Given the description of an element on the screen output the (x, y) to click on. 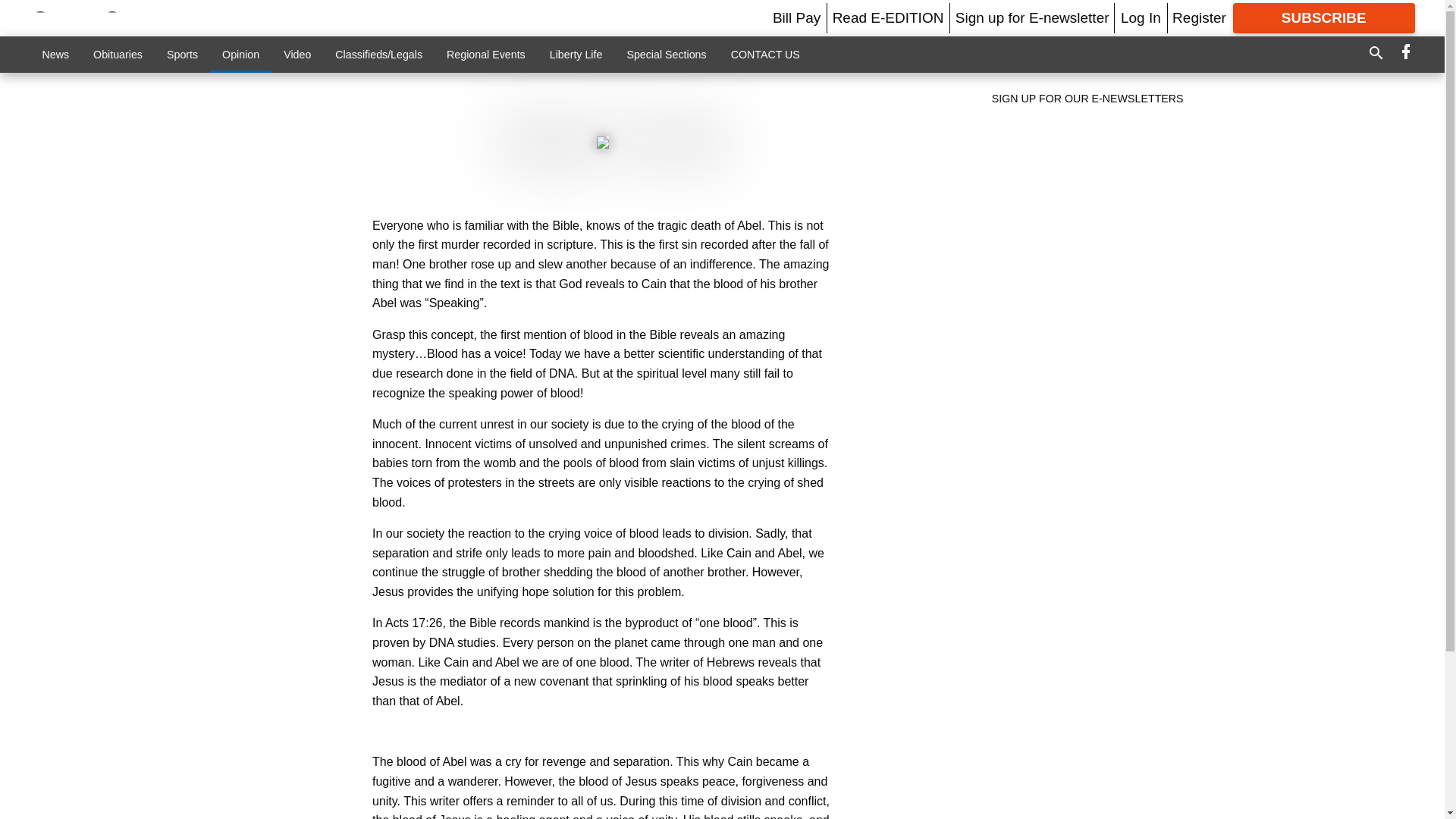
Log In (1140, 17)
Video (296, 54)
News (55, 54)
SUBSCRIBE (1324, 18)
Register (1198, 17)
Bill Pay (797, 17)
Read E-EDITION (887, 17)
Opinion (239, 54)
Sign up for E-newsletter (1032, 17)
Obituaries (117, 54)
Sports (181, 54)
